Given the description of an element on the screen output the (x, y) to click on. 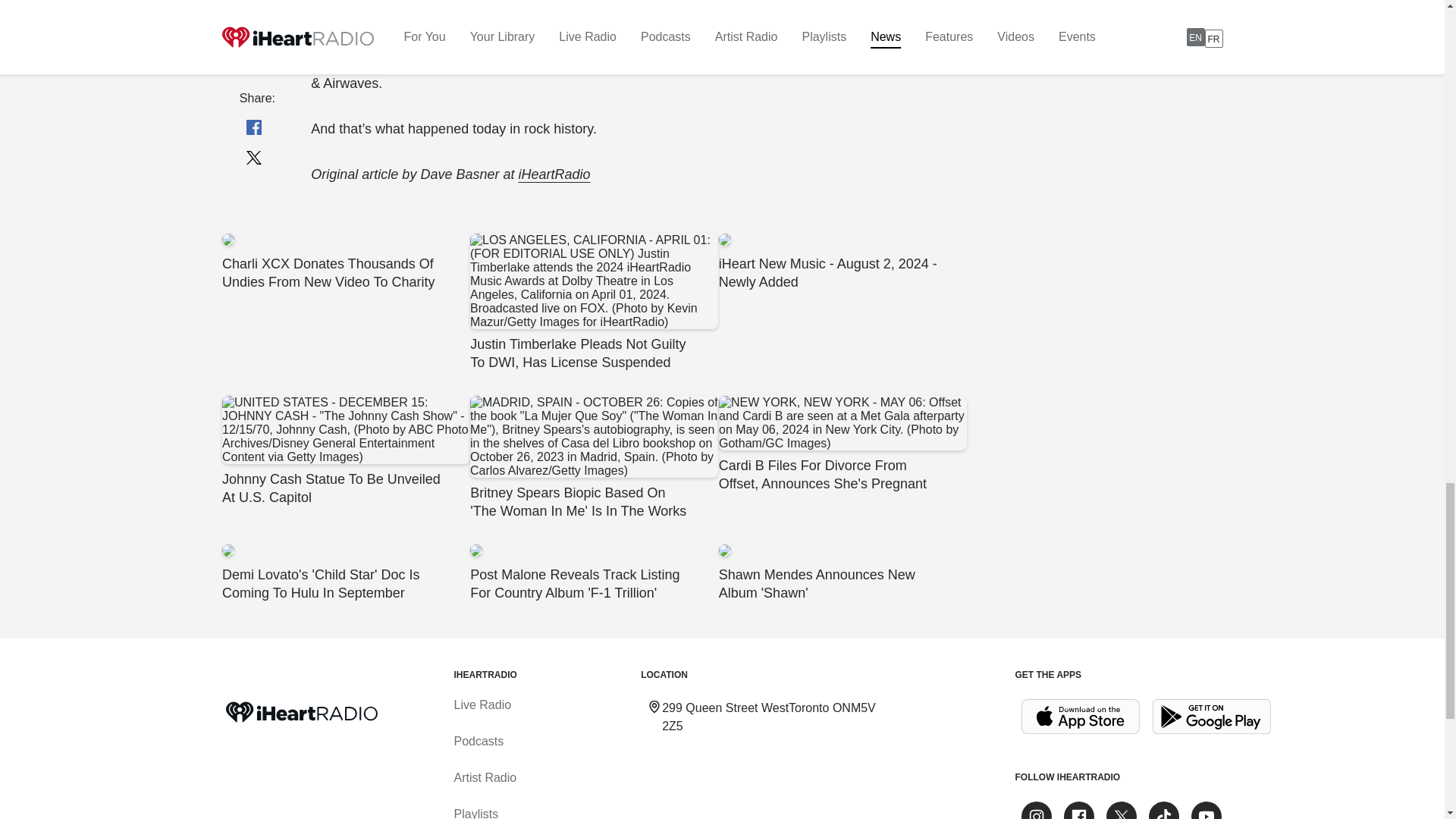
iHeart New Music - August 2, 2024 - Newly Added (841, 262)
iHeart New Music - August 2, 2024 - Newly Added (841, 262)
Johnny Cash Statue To Be Unveiled At U.S. Capitol (344, 450)
Download on the App Store (1080, 716)
Johnny Cash Statue To Be Unveiled At U.S. Capitol (344, 450)
Get it on Google Play (1212, 716)
